Given the description of an element on the screen output the (x, y) to click on. 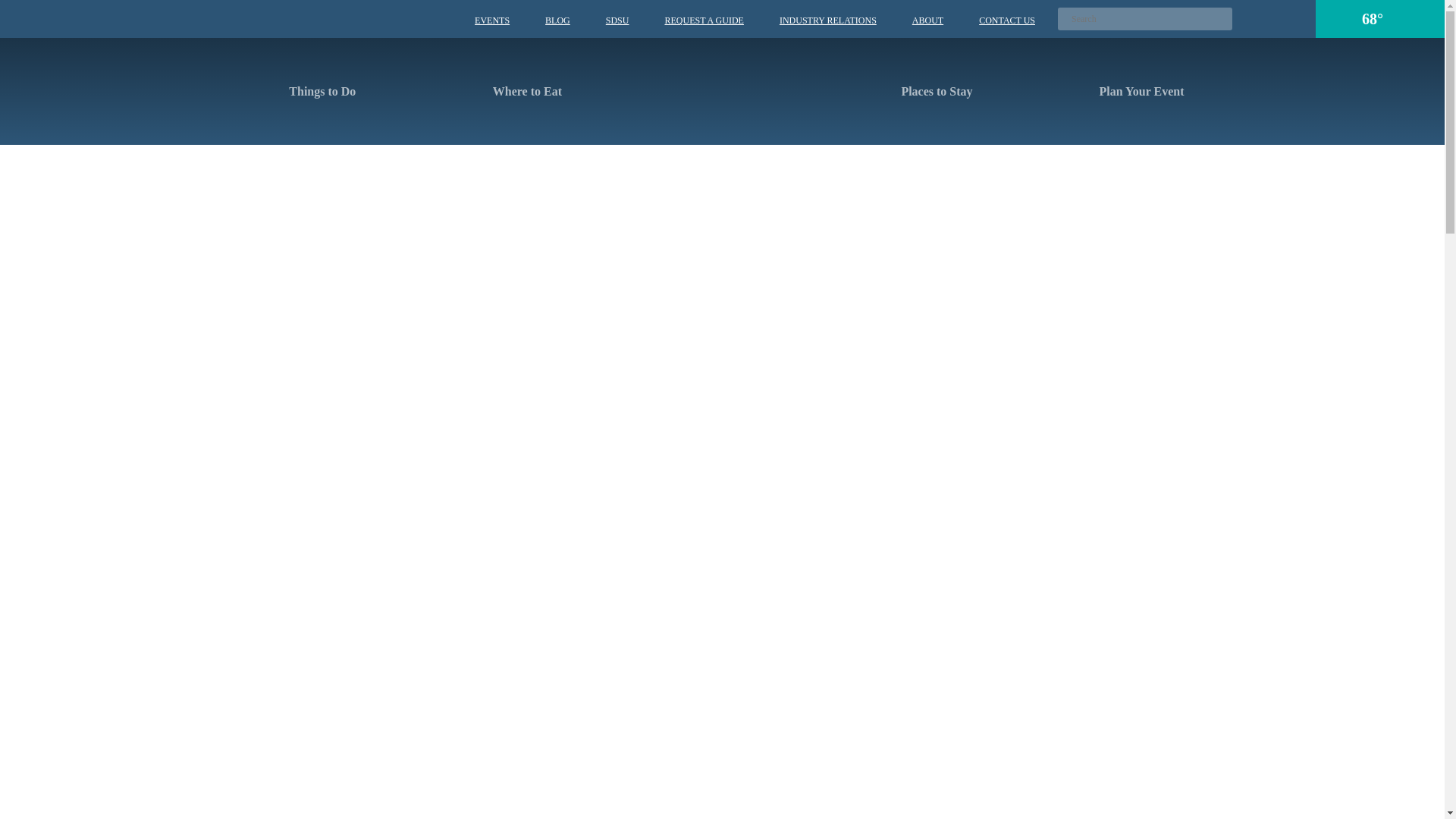
CONTACT US (1006, 20)
INDUSTRY RELATIONS (827, 20)
BLOG (557, 20)
SDSU (616, 20)
ABOUT (927, 20)
REQUEST A GUIDE (702, 20)
Visit Brookings (722, 87)
Plan Your Event (1131, 91)
Where to Eat (517, 91)
Submit Search (1220, 18)
Places to Stay (926, 91)
Things to Do (312, 91)
EVENTS (491, 20)
